Given the description of an element on the screen output the (x, y) to click on. 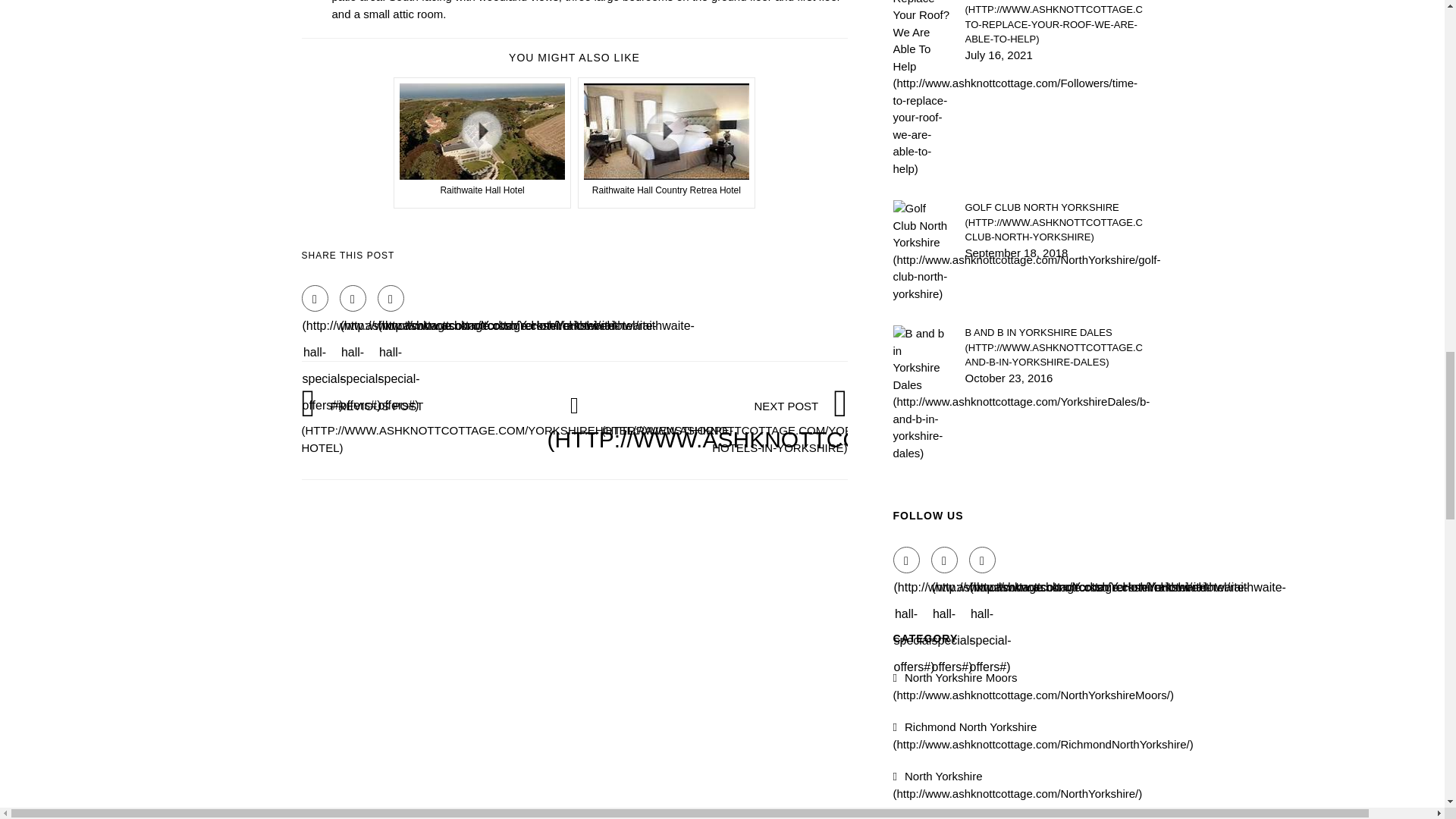
Facebook (906, 560)
NEXT POST (801, 426)
View this video from Vimeo (482, 142)
View all posts filed under Richmond North Yorkshire (1043, 735)
PREVIOUS POST (517, 426)
View all posts filed under North Yorkshire (1017, 784)
Facebook (315, 298)
Twitter (944, 560)
Google Plus (390, 298)
View this video from YouTube (666, 142)
